Given the description of an element on the screen output the (x, y) to click on. 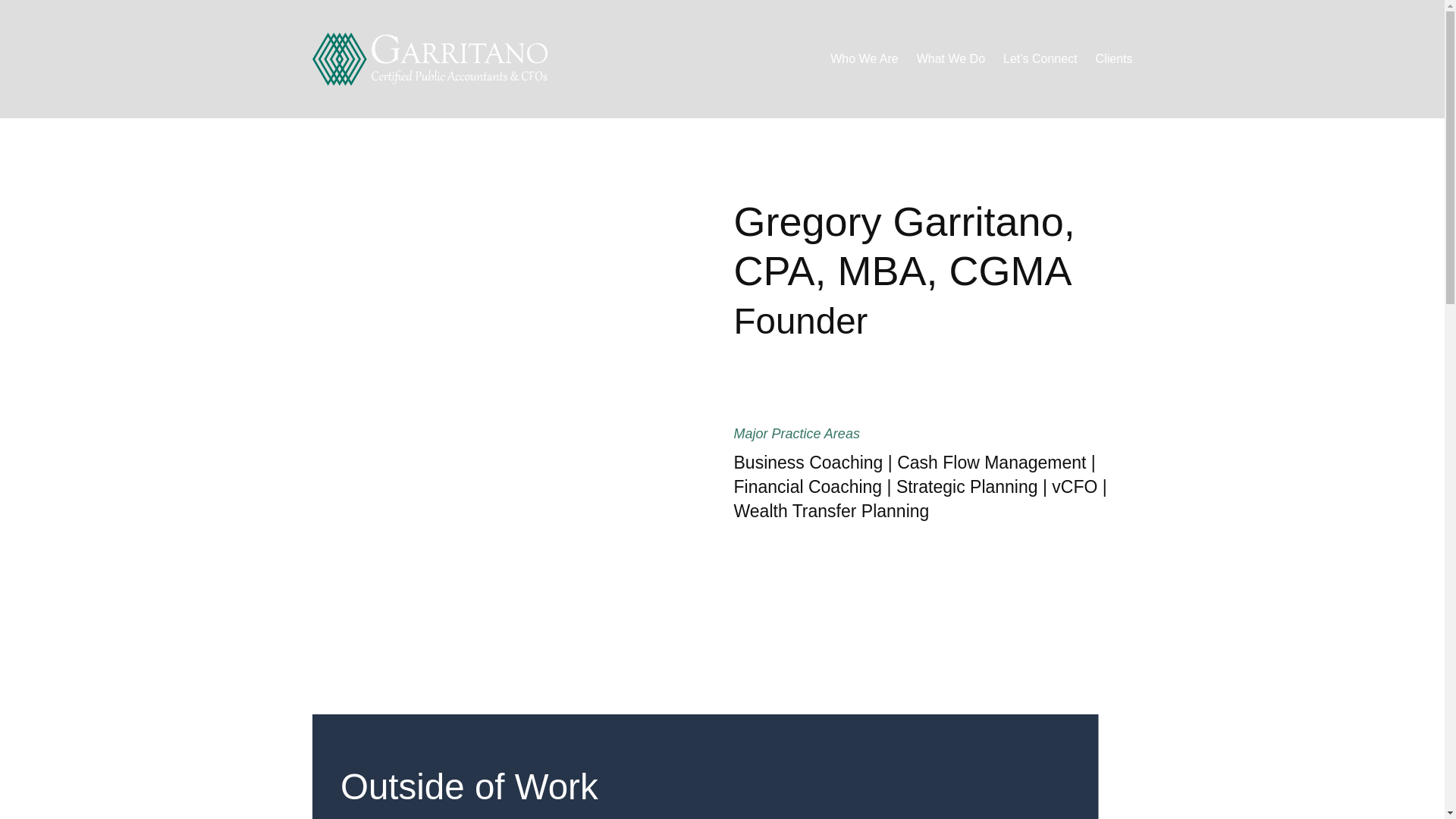
What We Do (950, 58)
Clients (1113, 58)
Who We Are (864, 58)
